Given the description of an element on the screen output the (x, y) to click on. 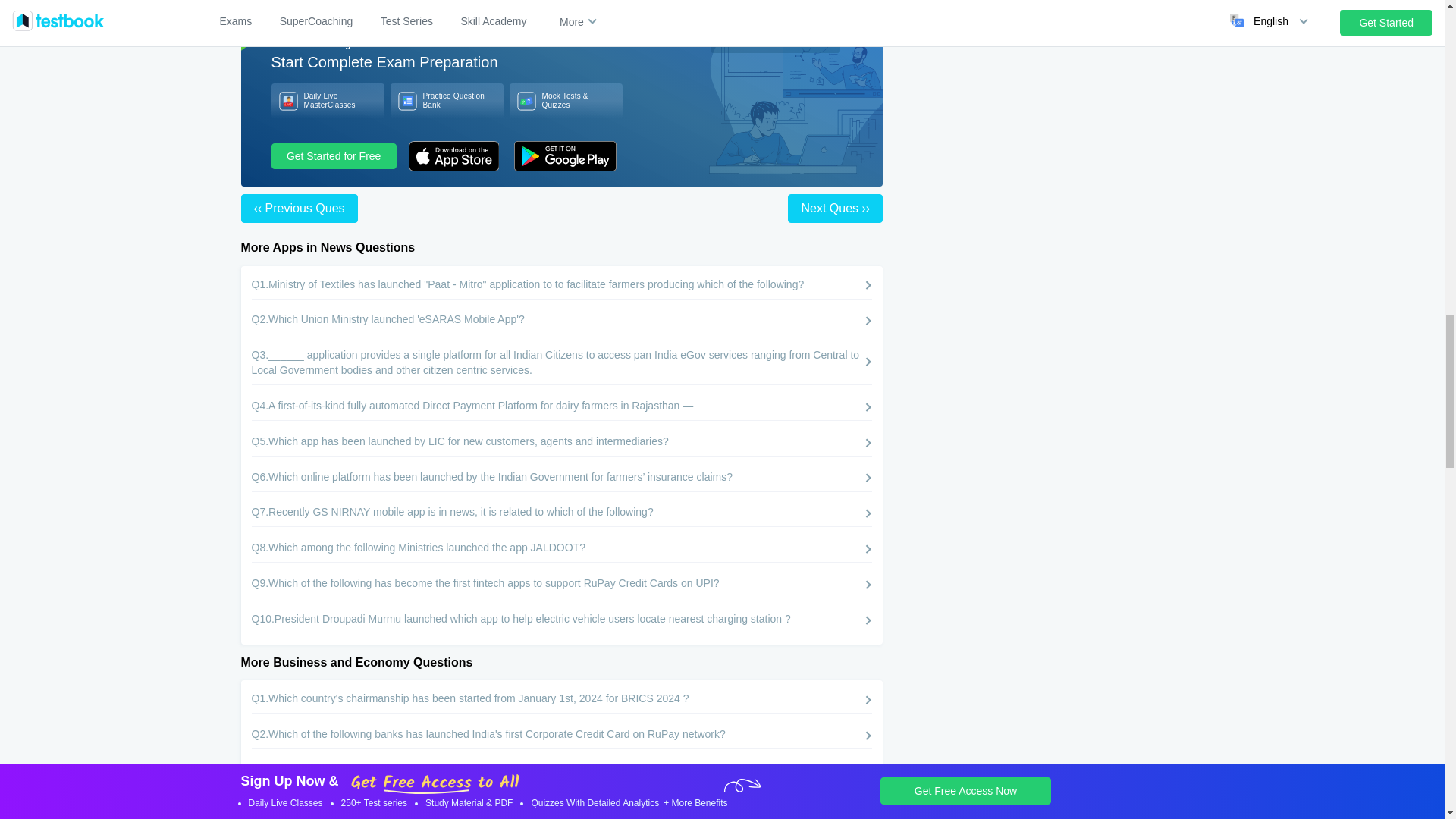
Get Started for Free (333, 155)
